Given the description of an element on the screen output the (x, y) to click on. 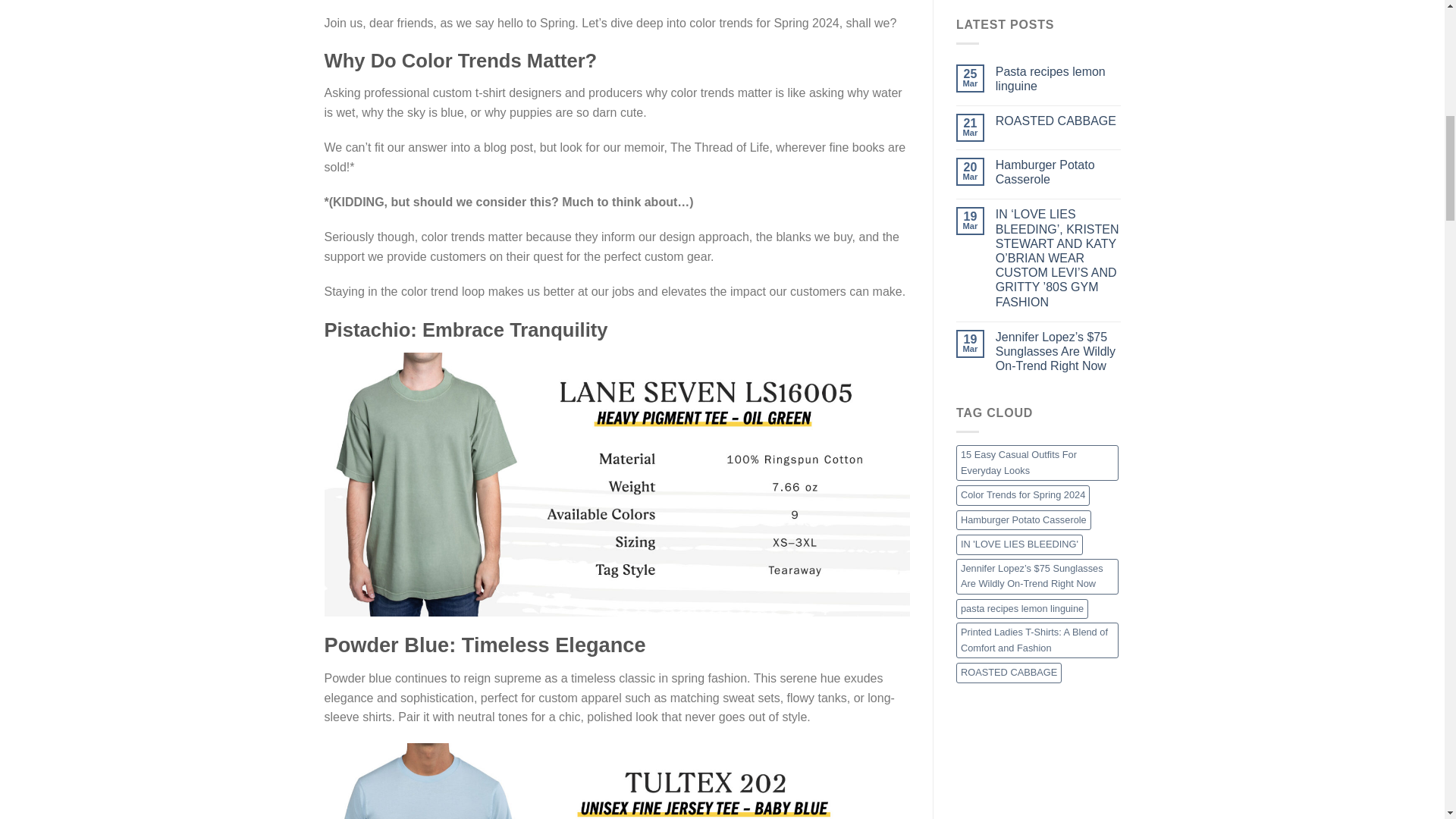
Pasta recipes lemon linguine (1058, 78)
ROASTED CABBAGE (1058, 120)
Pasta recipes lemon linguine (1058, 78)
